Given the description of an element on the screen output the (x, y) to click on. 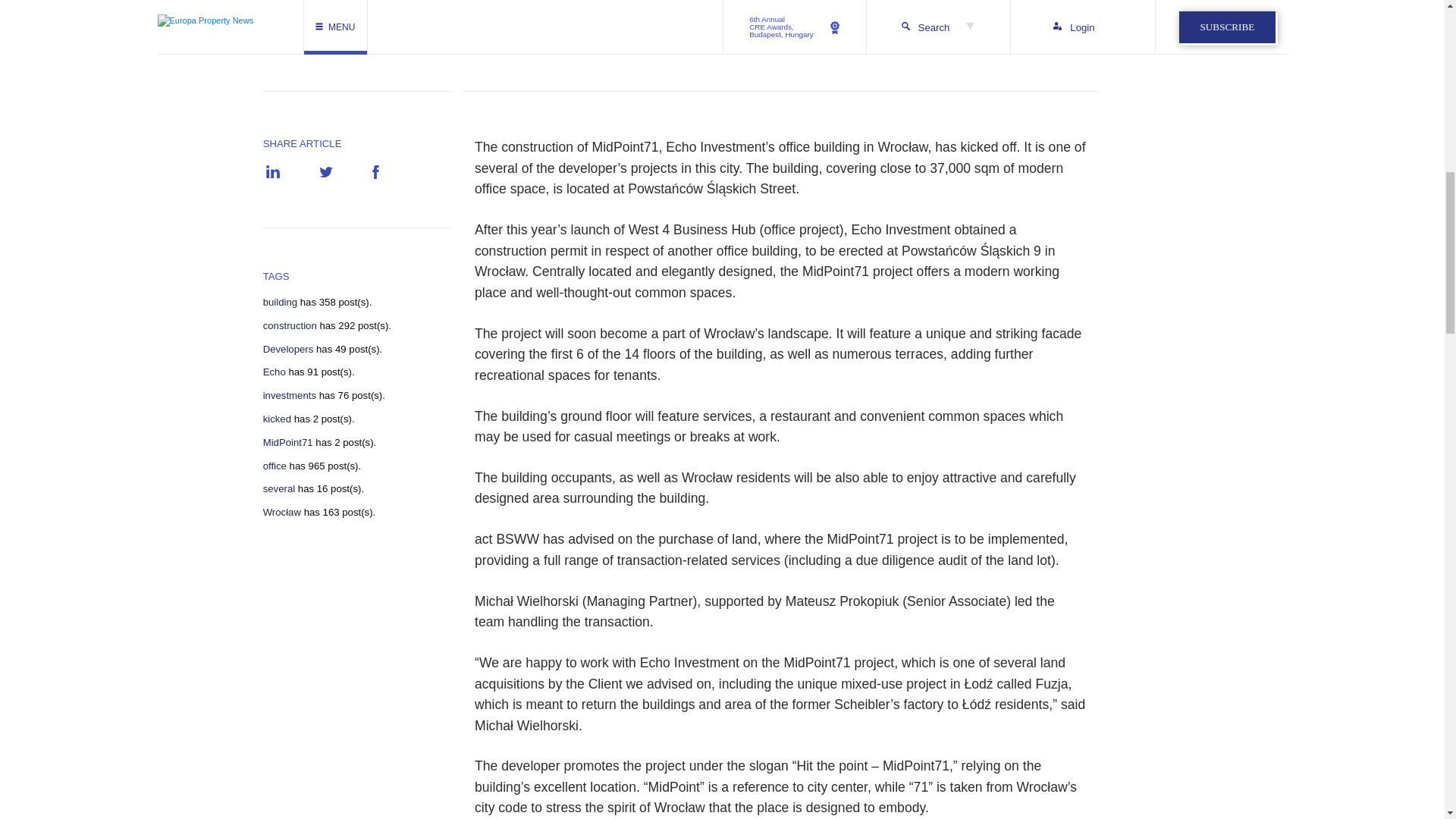
View all posts in Developers (288, 349)
Echo (274, 372)
View all posts in office (274, 466)
construction (290, 326)
View all posts in Echo (274, 372)
office (274, 466)
View all posts in kicked (277, 419)
kicked (277, 419)
View all posts in several (279, 489)
building (280, 302)
